Given the description of an element on the screen output the (x, y) to click on. 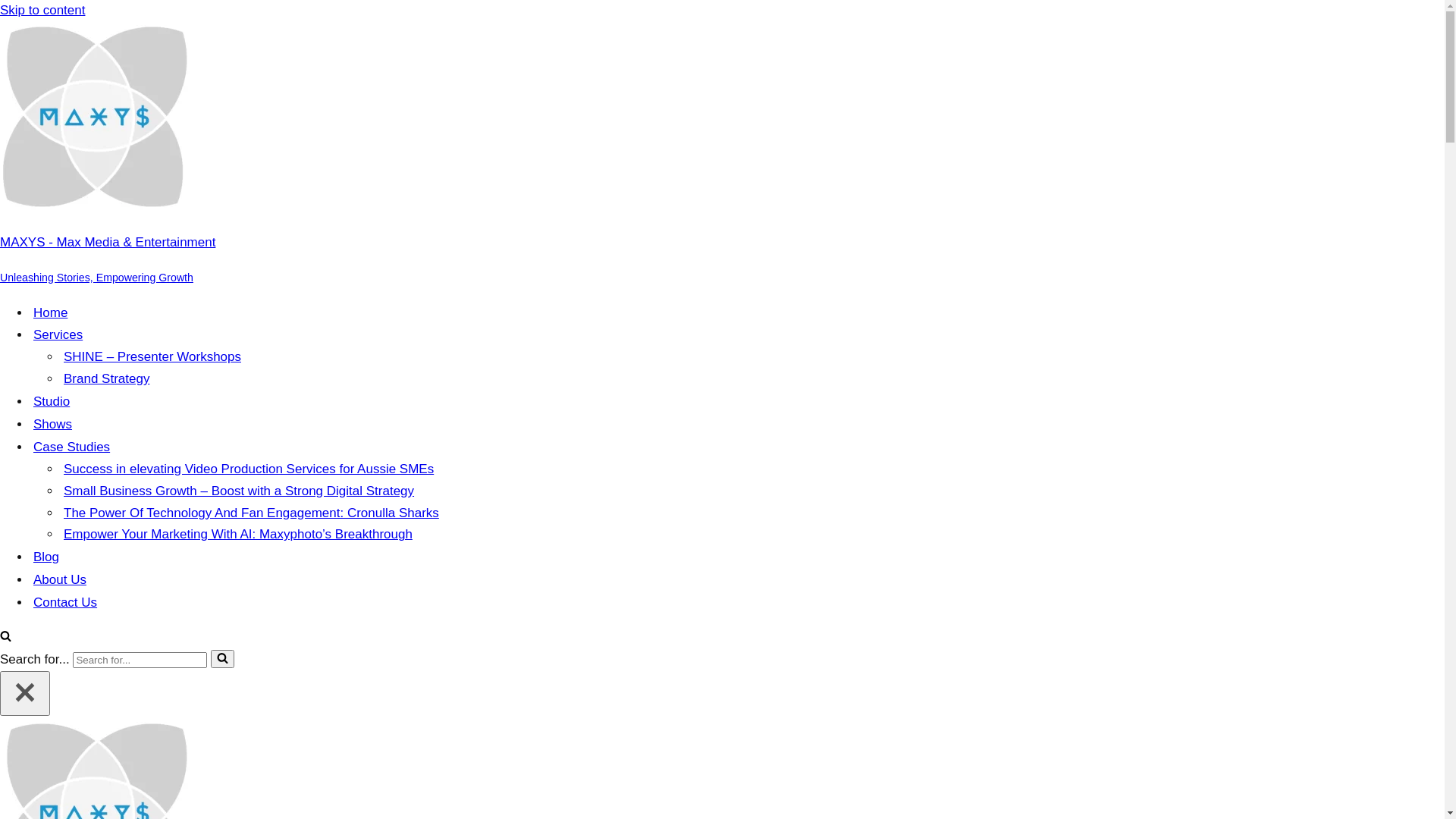
Services Element type: text (57, 334)
Studio Element type: text (51, 401)
Contact Us Element type: text (65, 602)
Blog Element type: text (46, 557)
Brand Strategy Element type: text (106, 379)
The Power Of Technology And Fan Engagement: Cronulla Sharks Element type: text (251, 513)
About Us Element type: text (59, 579)
Shows Element type: text (52, 424)
Home Element type: text (50, 312)
Case Studies Element type: text (71, 447)
Skip to content Element type: text (42, 10)
